Given the description of an element on the screen output the (x, y) to click on. 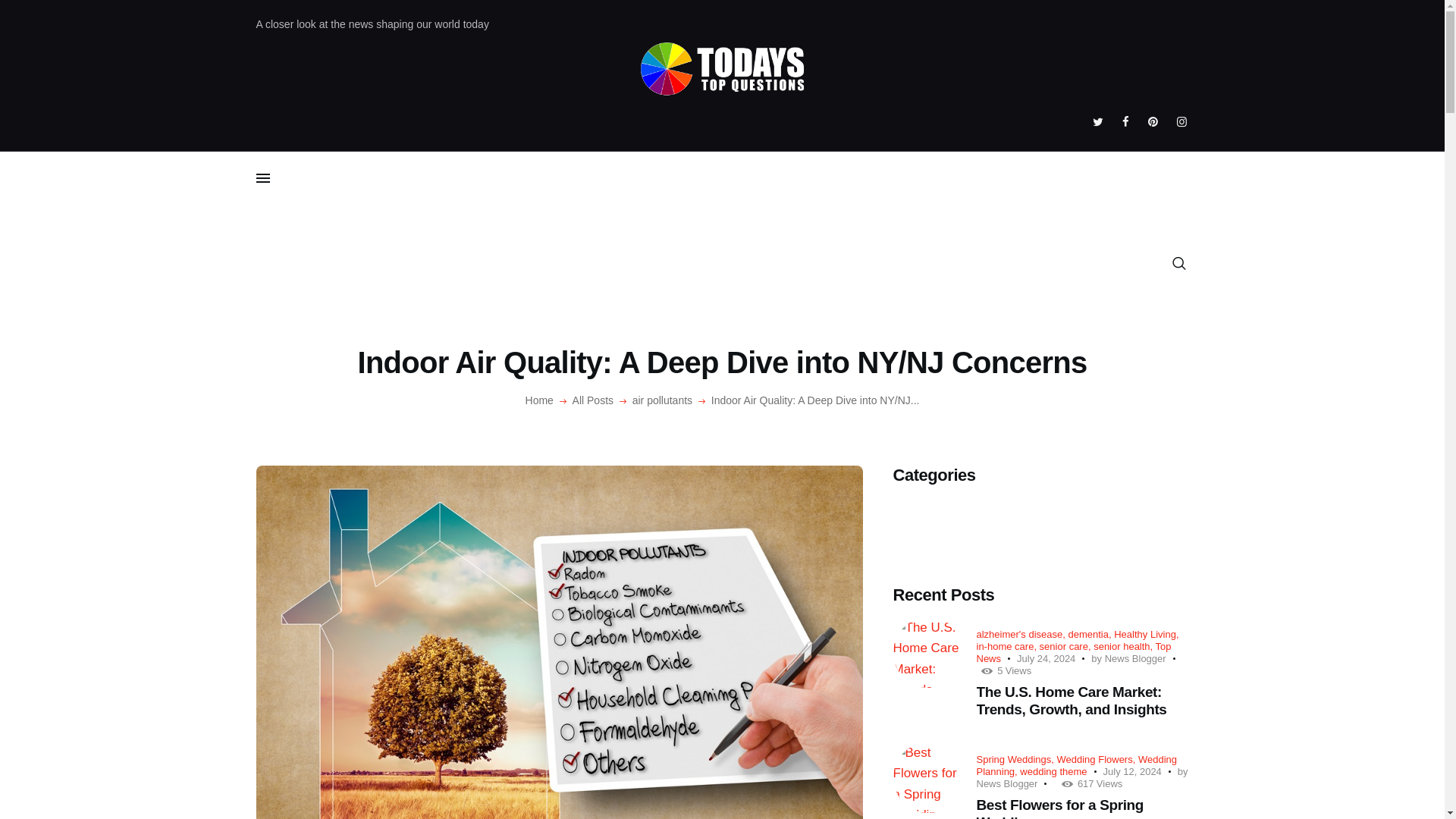
All Posts (592, 399)
air pollutants (662, 400)
Home (539, 400)
